Given the description of an element on the screen output the (x, y) to click on. 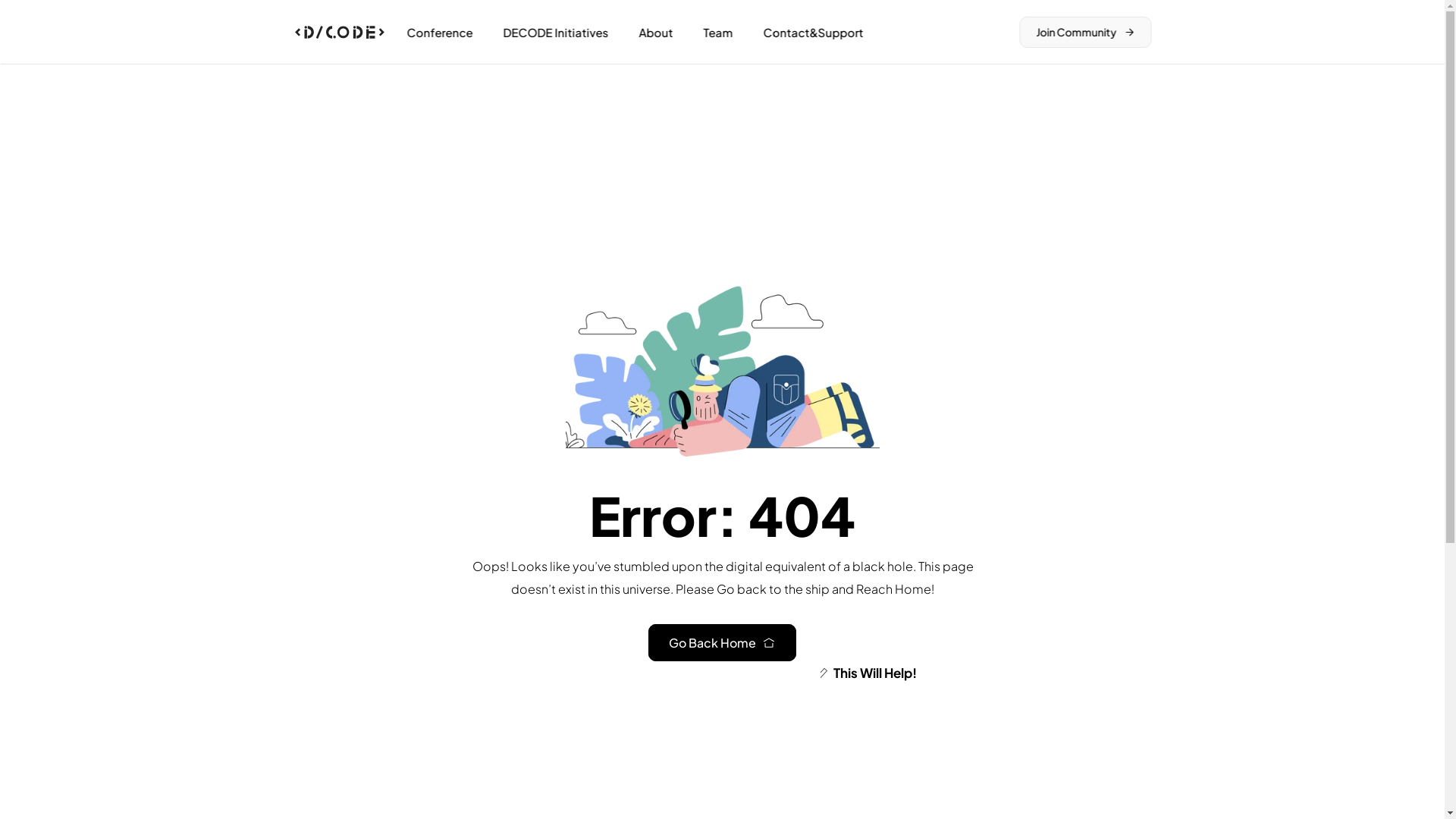
About Element type: text (655, 32)
Contact&Support Element type: text (812, 32)
DECODE Initiatives Element type: text (554, 32)
 Join Community Element type: text (1085, 31)
Go Back Home Element type: text (722, 642)
Team Element type: text (716, 32)
Conference Element type: text (439, 32)
